Given the description of an element on the screen output the (x, y) to click on. 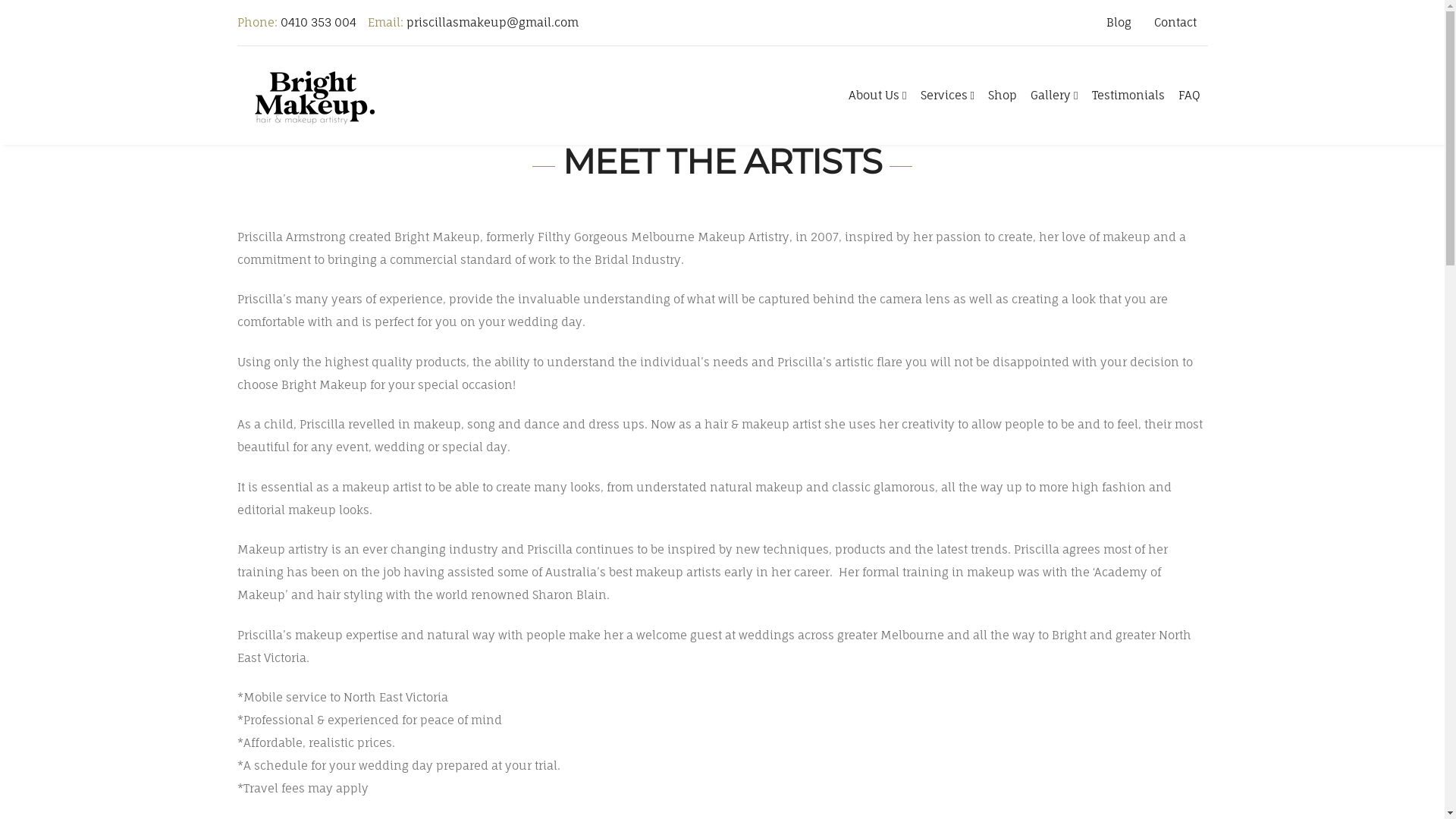
Services Element type: text (948, 95)
FAQ Element type: text (1190, 95)
Gallery Element type: text (1054, 95)
Testimonials Element type: text (1128, 95)
Blog Element type: text (1118, 22)
About Us Element type: text (877, 95)
Shop Element type: text (1003, 95)
priscillasmakeup@gmail.com Element type: text (492, 22)
Contact Element type: text (1174, 22)
